Given the description of an element on the screen output the (x, y) to click on. 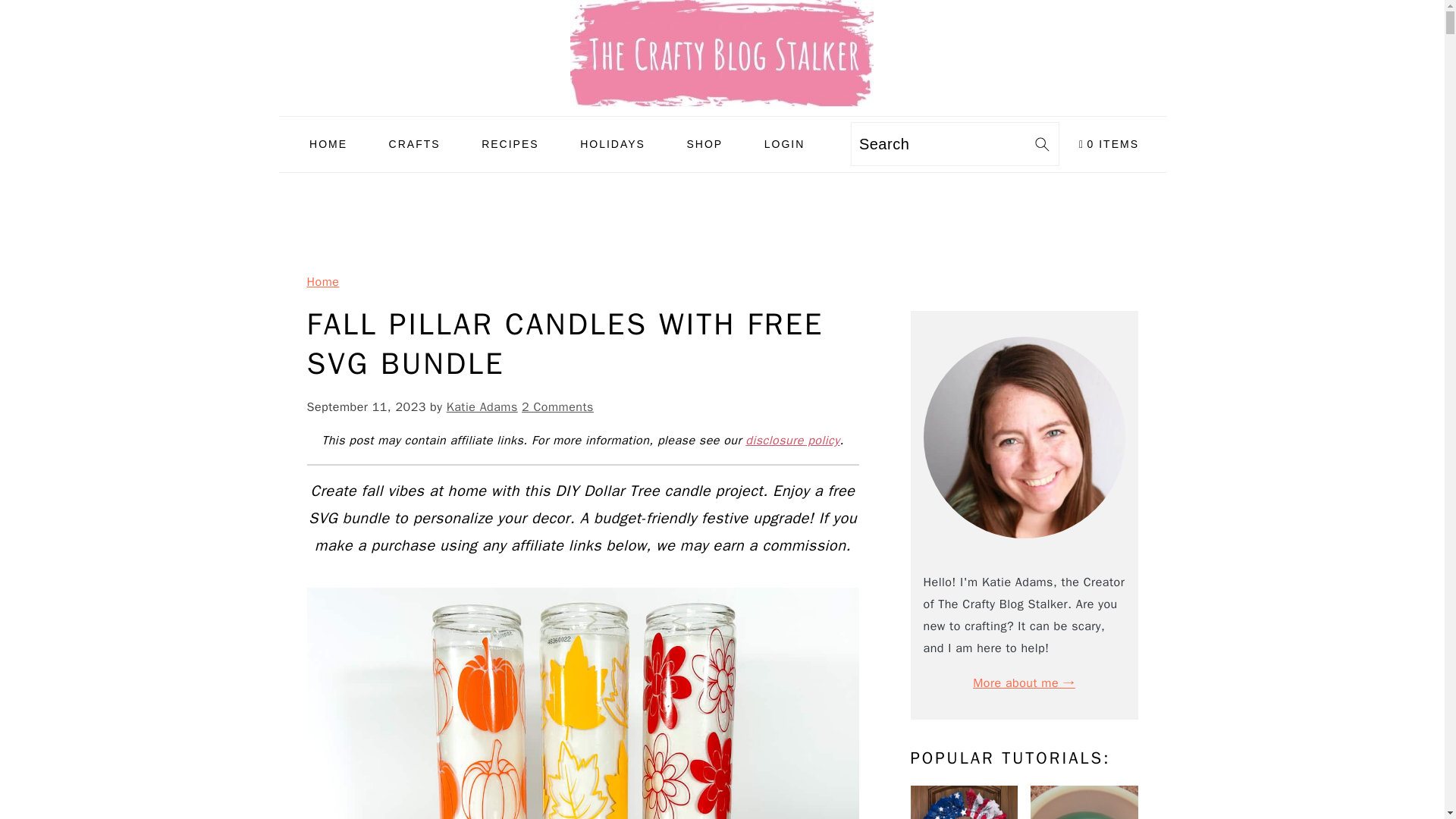
Start shopping (1108, 144)
Katie Adams (482, 406)
HOLIDAYS (612, 144)
0 ITEMS (1108, 144)
RECIPES (509, 144)
2 Comments (557, 406)
Home (322, 281)
SHOP (703, 144)
HOME (328, 144)
